Given the description of an element on the screen output the (x, y) to click on. 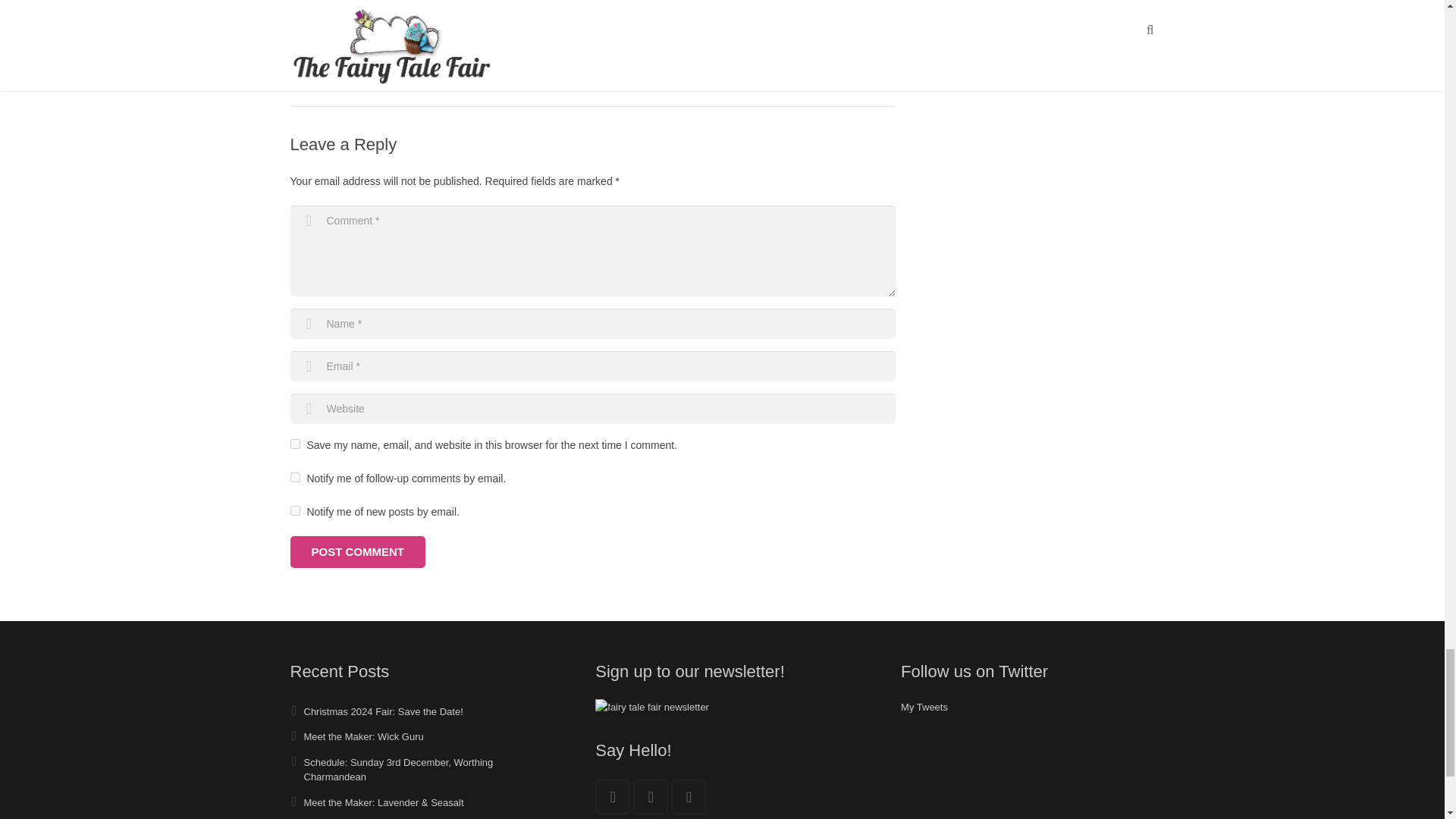
Post Comment (357, 552)
yes (294, 443)
subscribe (294, 510)
Post Comment (357, 552)
subscribe (294, 477)
